Given the description of an element on the screen output the (x, y) to click on. 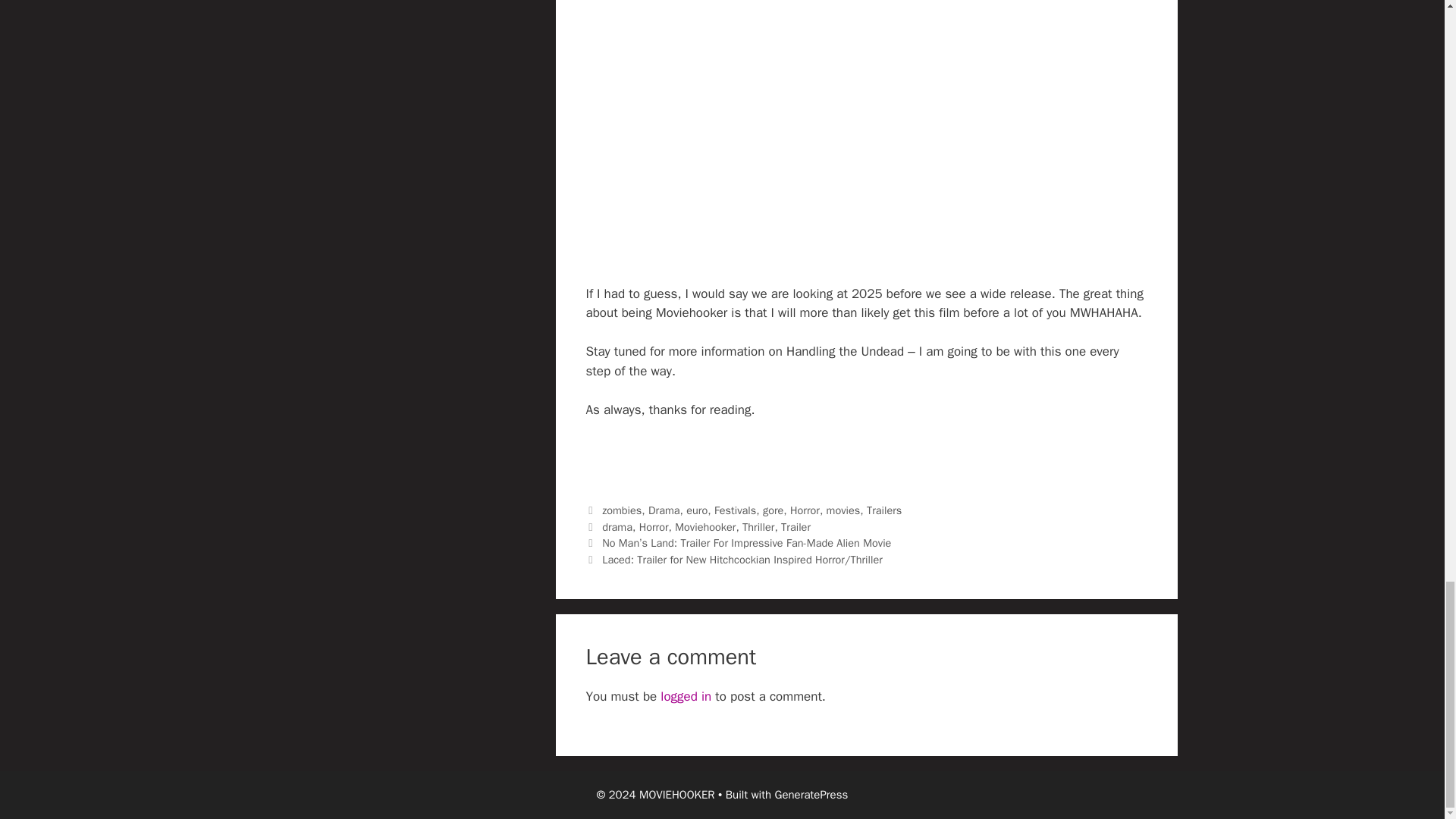
GeneratePress (811, 794)
Share on Twitter (644, 456)
drama (616, 526)
euro (696, 509)
Festivals (734, 509)
Pin it with Pinterest (724, 456)
zombies (622, 509)
Horror (804, 509)
Trailers (883, 509)
Drama (663, 509)
